Given the description of an element on the screen output the (x, y) to click on. 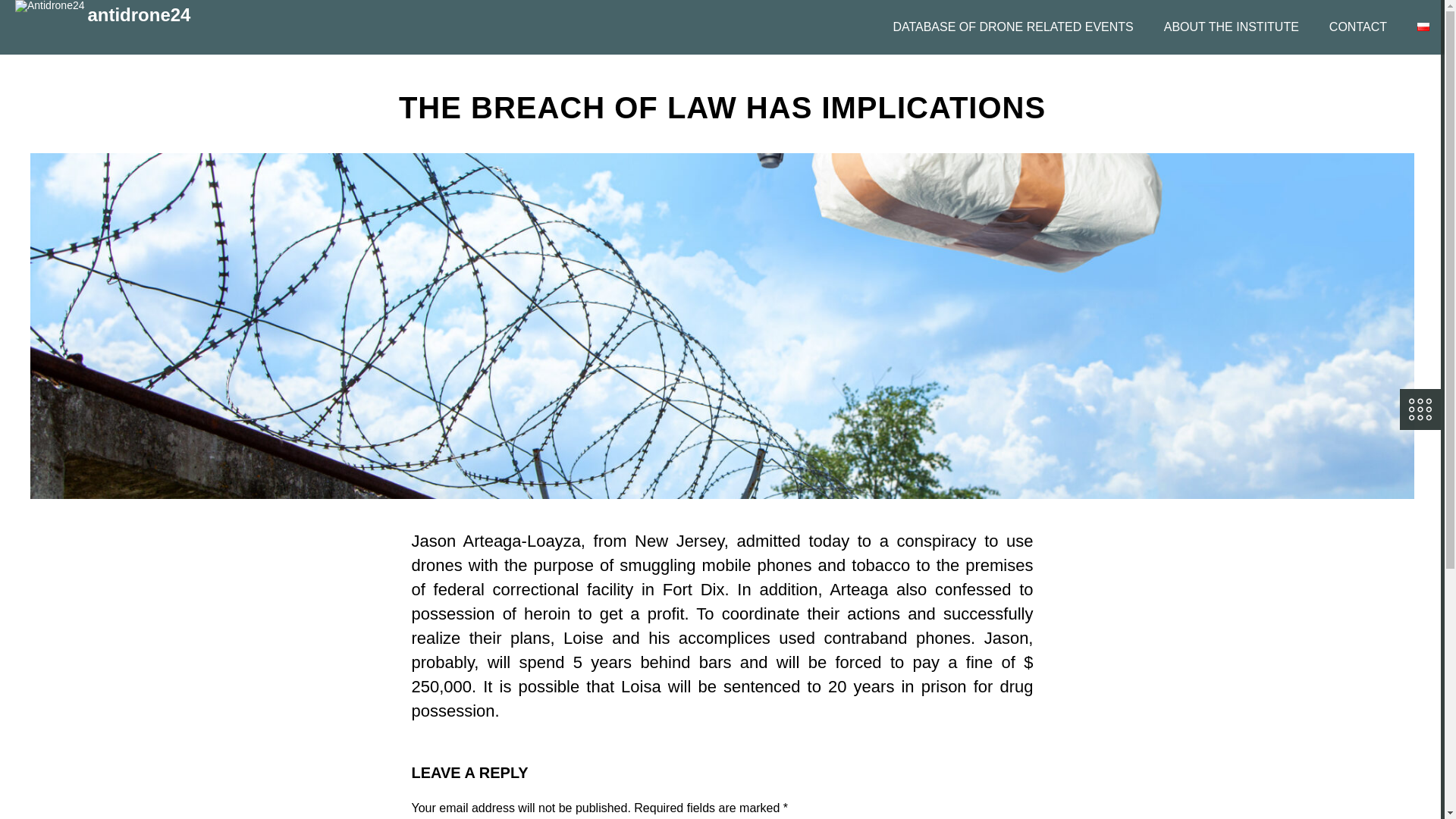
CONTACT (1358, 27)
ABOUT THE INSTITUTE (1231, 27)
antidrone24 (107, 12)
DATABASE OF DRONE RELATED EVENTS (1012, 27)
